Given the description of an element on the screen output the (x, y) to click on. 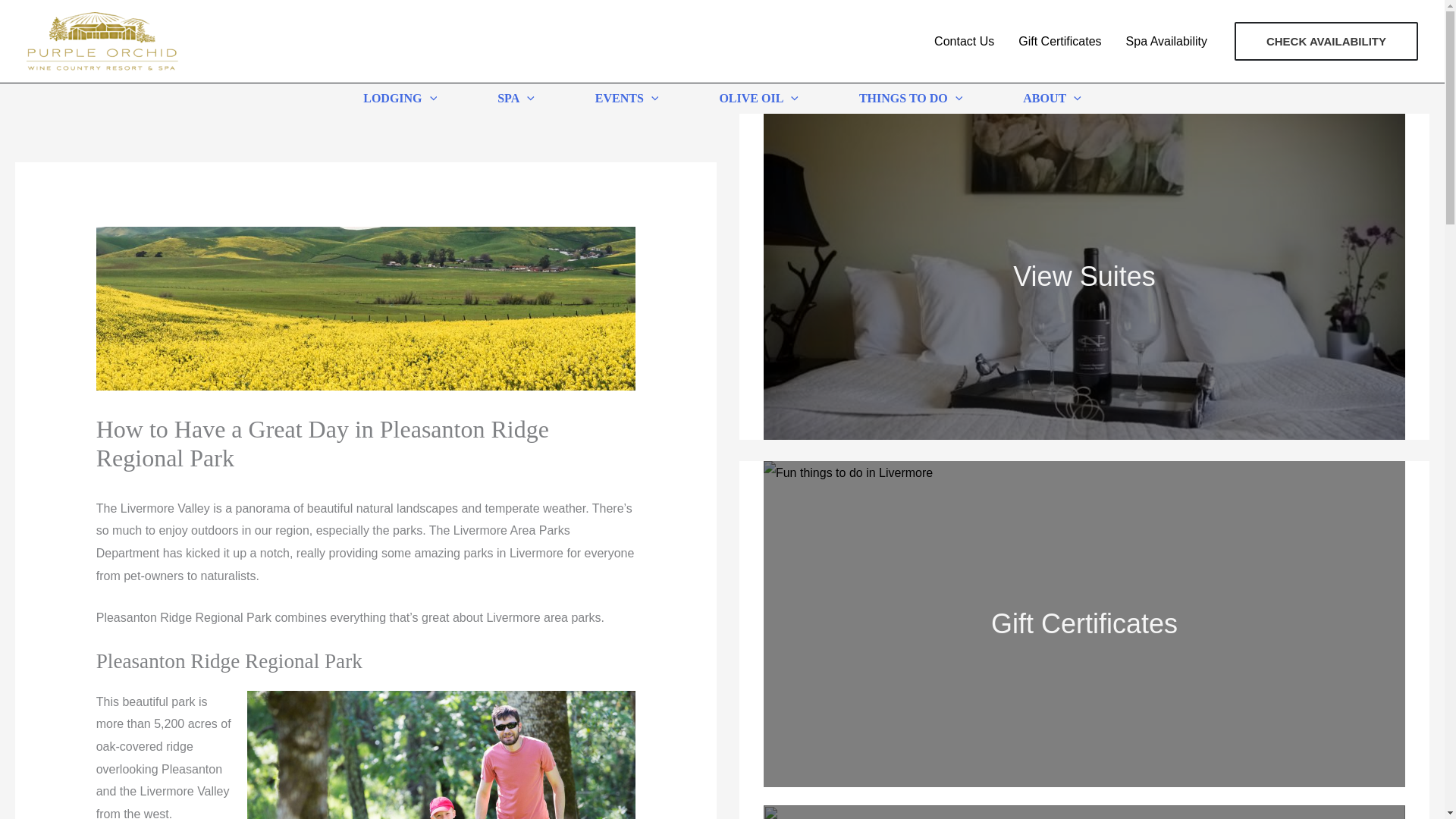
EVENTS (626, 98)
OLIVE OIL (758, 98)
Gift Certificates (1059, 40)
THINGS TO DO (910, 98)
LODGING (400, 98)
Contact Us (963, 40)
SPA (515, 98)
CHECK AVAILABILITY (1326, 41)
Spa Availability (1166, 40)
